Given the description of an element on the screen output the (x, y) to click on. 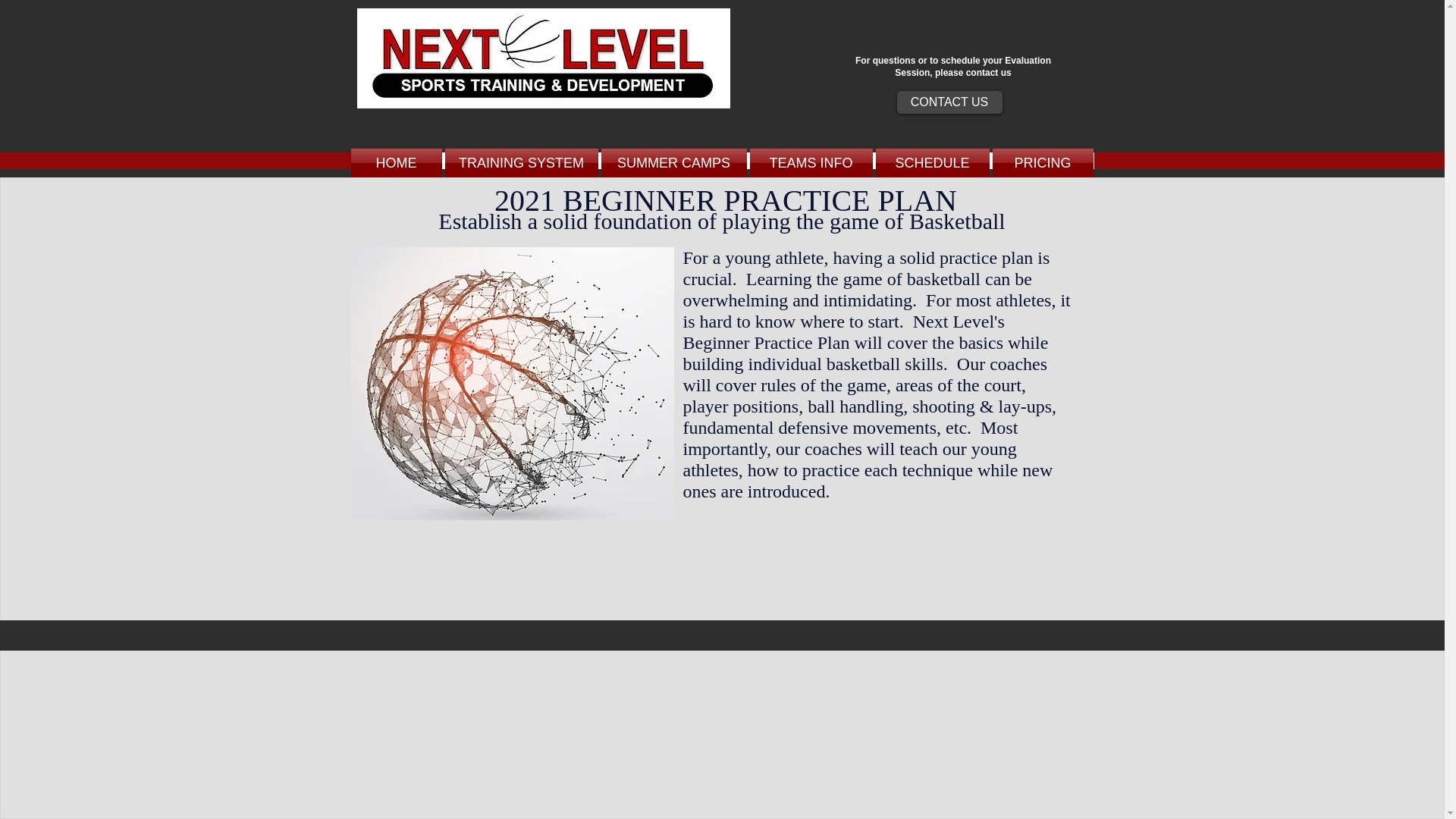
TRAINING SYSTEM (520, 162)
SCHEDULE (931, 162)
CONTACT US (948, 101)
TEAMS INFO (810, 162)
SUMMER CAMPS (673, 162)
PRICING (1041, 162)
HOME (396, 162)
